Given the description of an element on the screen output the (x, y) to click on. 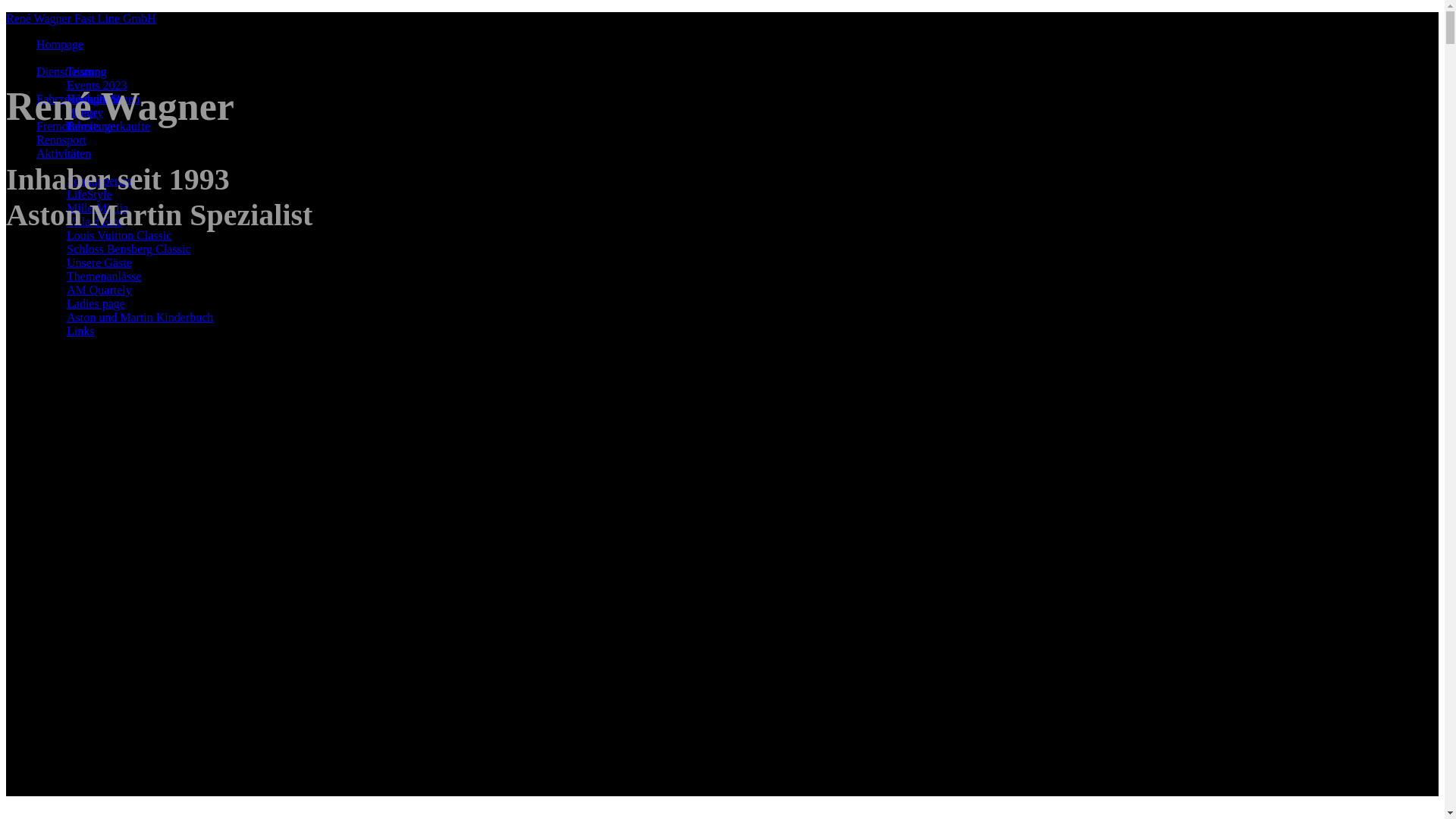
History Element type: text (84, 112)
Events 2023 Element type: text (96, 84)
Villa d'Este Element type: text (94, 221)
AM Quartely Element type: text (98, 289)
Fahrzeugangebot Element type: text (77, 98)
LifeStyle Element type: text (89, 194)
Links Element type: text (80, 330)
Bereits verkaufte Element type: text (108, 125)
Pflege Element type: text (81, 112)
Mille Miglia Element type: text (97, 207)
Team Element type: text (79, 71)
Restaurationen Element type: text (102, 98)
Aston und Martin Kinderbuch Element type: text (139, 316)
Schnuppertag Element type: text (99, 180)
Fremdfahrzeuge Element type: text (76, 125)
Hompage Element type: text (59, 43)
Louis Vuitton Classic Element type: text (118, 235)
Schloss Bensberg Classic Element type: text (128, 248)
Dienstleistung Element type: text (71, 71)
Ladies page Element type: text (95, 303)
Rennsport Element type: text (61, 139)
